Given the description of an element on the screen output the (x, y) to click on. 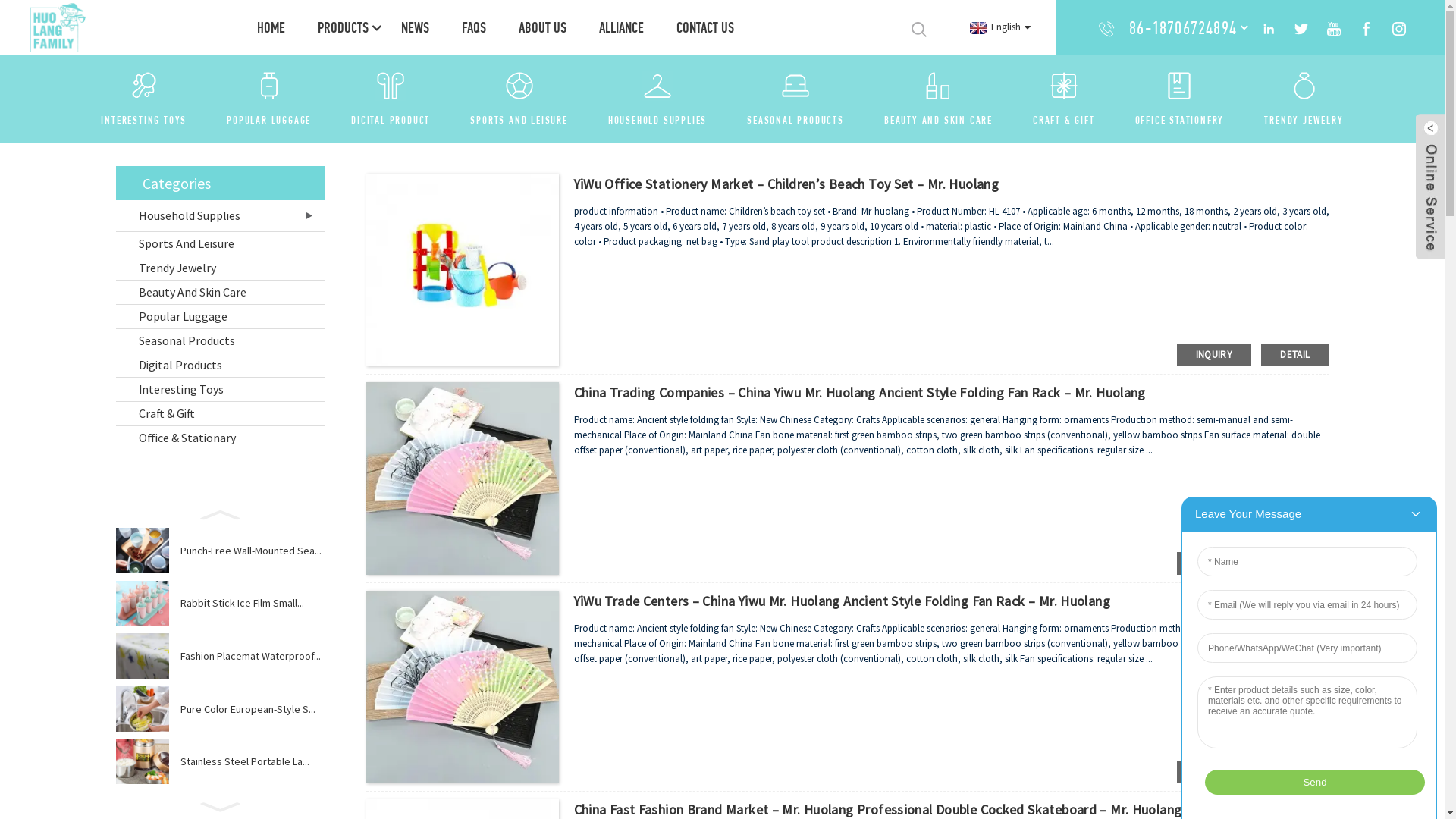
HOME Element type: text (270, 26)
INQUIRY Element type: text (1214, 354)
Household Supplies Element type: text (219, 215)
English Element type: text (998, 27)
DICITAL PRODUCT Element type: text (390, 119)
Fashion Placemat Waterproof... Element type: text (252, 655)
Stainless Steel Portable La... Element type: text (252, 761)
TRENDY JEWELRY Element type: text (1303, 119)
NEWS Element type: text (414, 26)
ALLIANCE Element type: text (620, 26)
INTERESTING TOYS Element type: text (143, 119)
DETAIL Element type: text (1294, 771)
Beauty And Skin Care Element type: text (219, 291)
DETAIL Element type: text (1294, 354)
INQUIRY Element type: text (1214, 563)
FAQS Element type: text (473, 26)
86-19858928898 Element type: text (1182, 61)
ABOUT US Element type: text (542, 26)
Digital Products Element type: text (219, 364)
Rabbit Stick Ice Film Small... Element type: text (252, 602)
Office & Stationary Element type: text (219, 437)
BEAUTY AND SKIN CARE Element type: text (938, 119)
Sports And Leisure Element type: text (219, 243)
Popular Luggage Element type: text (219, 315)
CONTACT US Element type: text (705, 26)
HOUSEHOLD SUPPLIES Element type: text (657, 119)
SPORTS AND LEISURE Element type: text (518, 119)
POPULAR LUGGAGE Element type: text (268, 119)
DETAIL Element type: text (1294, 563)
Pure Color European-Style S... Element type: text (252, 708)
INQUIRY Element type: text (1214, 771)
PRODUCTS Element type: text (342, 26)
Punch-Free Wall-Mounted Sea... Element type: text (252, 550)
Interesting Toys Element type: text (219, 388)
CRAFT & GIFT Element type: text (1063, 119)
86-18706724894 Element type: text (1182, 27)
Seasonal Products Element type: text (219, 340)
SEASONAL PRODUCTS Element type: text (795, 119)
Trendy Jewelry Element type: text (219, 267)
Craft & Gift Element type: text (219, 412)
OFFICE STATIONFRY Element type: text (1179, 119)
